Given the description of an element on the screen output the (x, y) to click on. 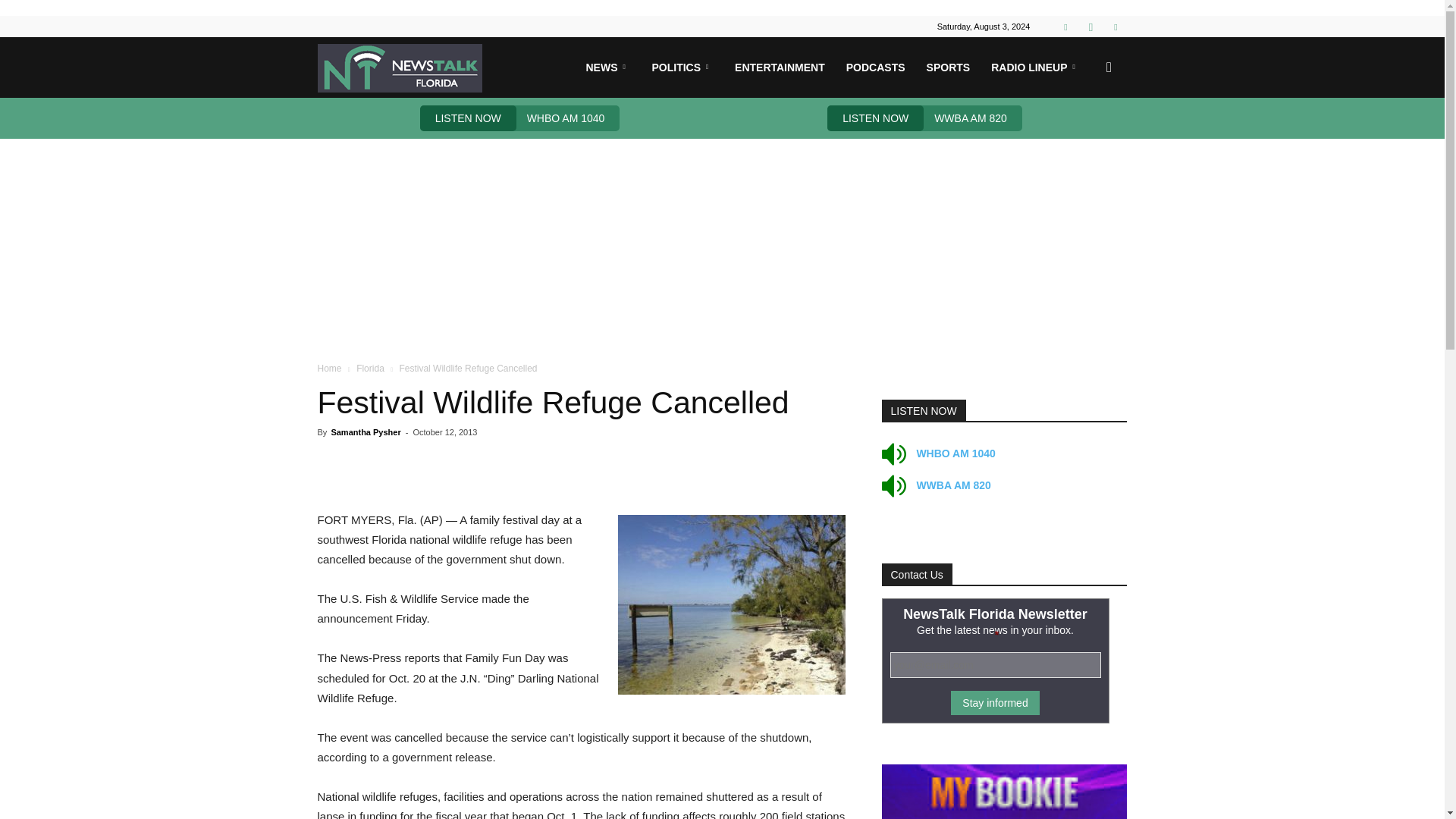
View all posts in Florida (370, 368)
Twitter (1114, 25)
Stay informed (994, 702)
Facebook (1065, 25)
Instagram (1090, 25)
Search (1085, 139)
